Given the description of an element on the screen output the (x, y) to click on. 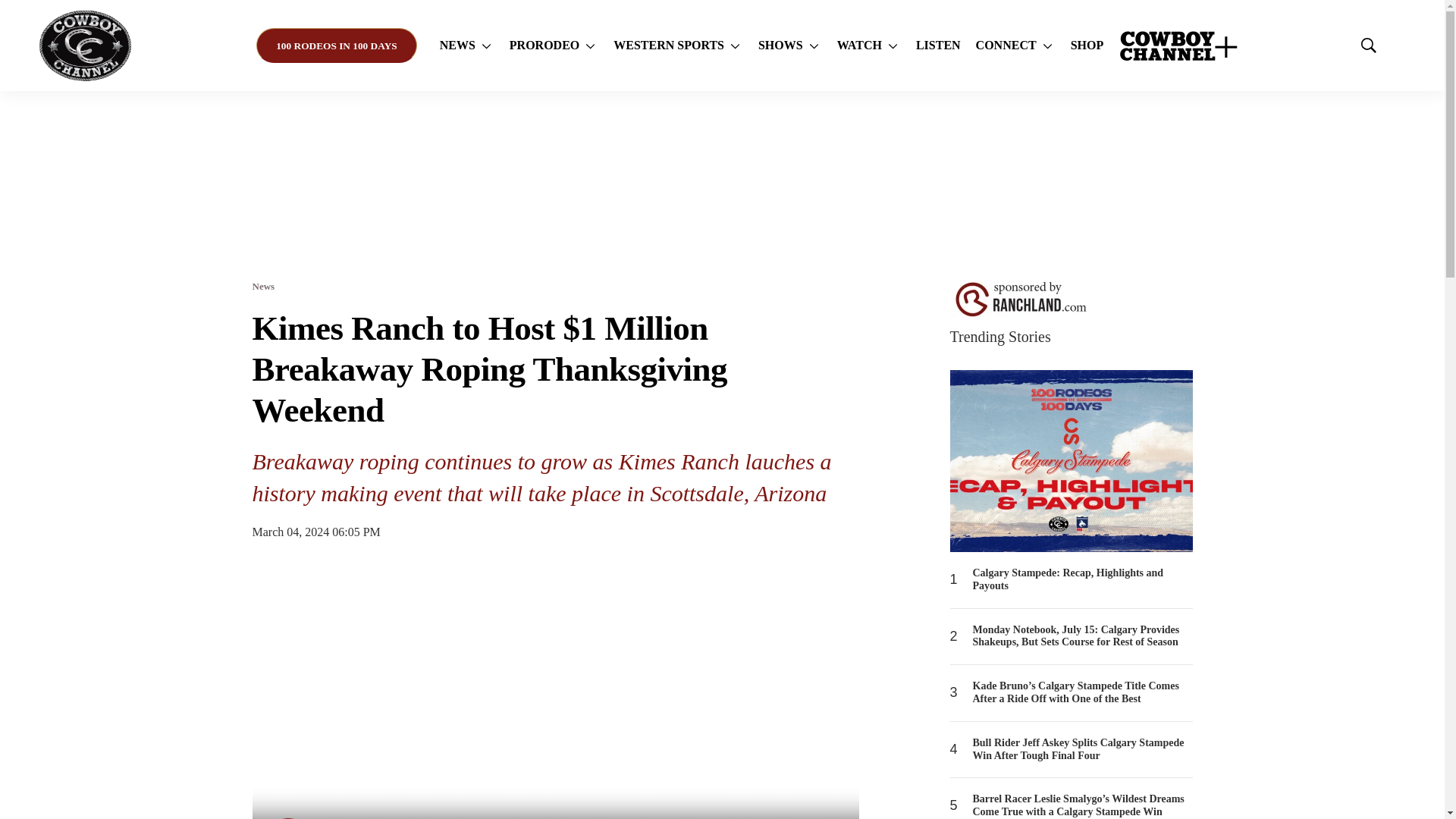
3rd party ad content (721, 185)
